Given the description of an element on the screen output the (x, y) to click on. 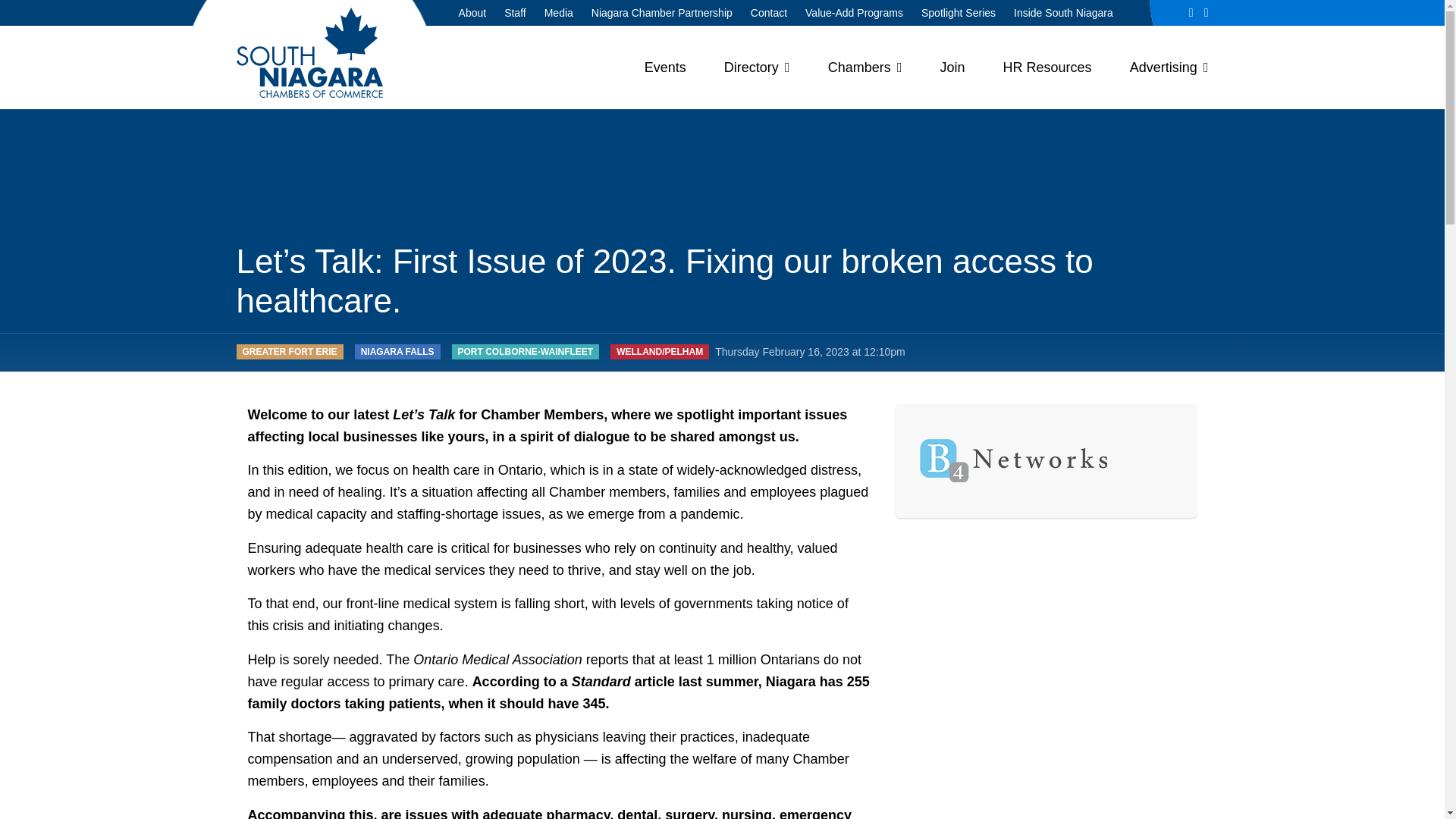
Events (665, 67)
Directory (756, 67)
About (472, 12)
Advertising (1168, 67)
HR Resources (1047, 67)
Join (952, 67)
Chambers (865, 67)
